Given the description of an element on the screen output the (x, y) to click on. 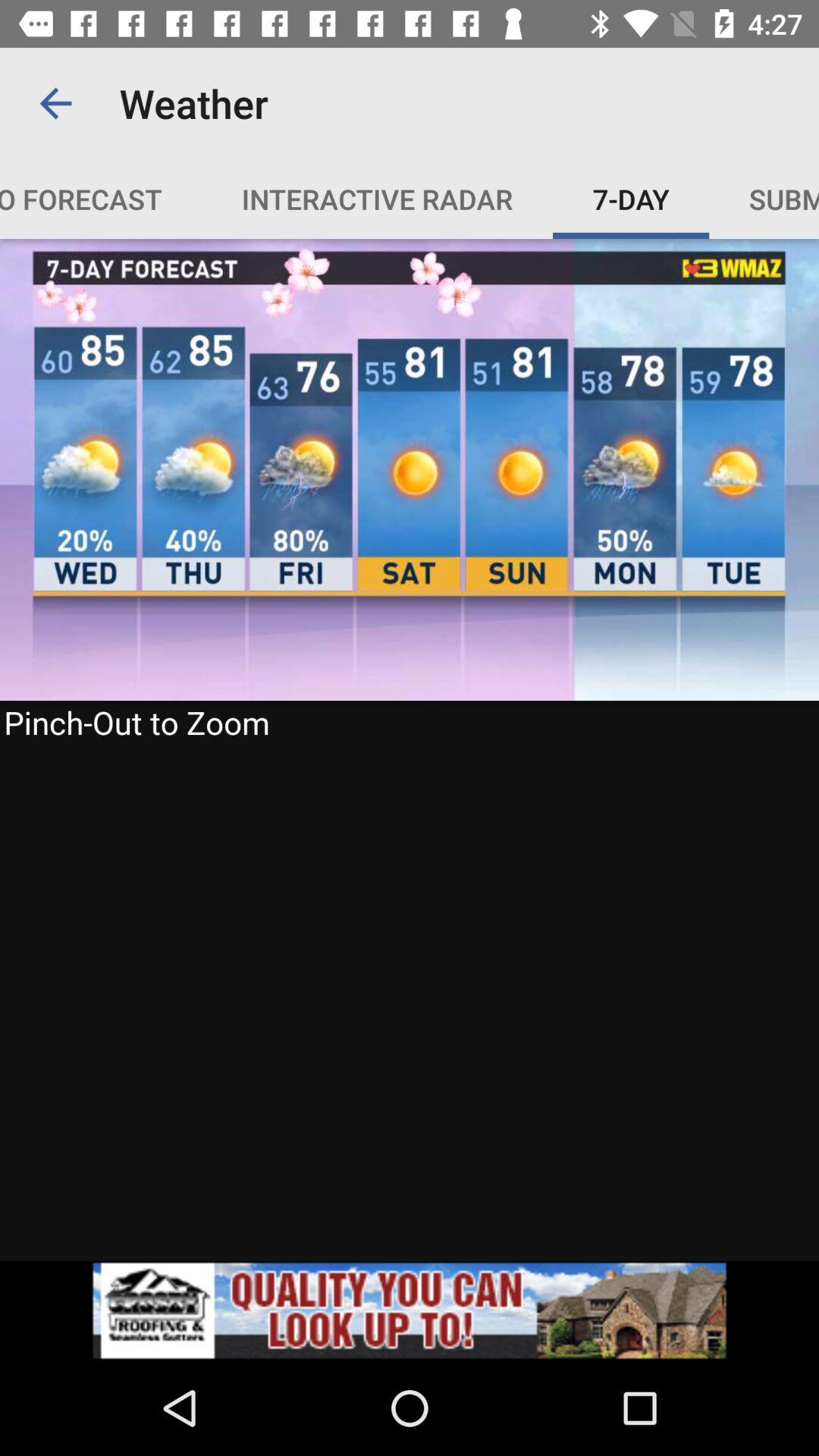
display of the week forecast (409, 749)
